Given the description of an element on the screen output the (x, y) to click on. 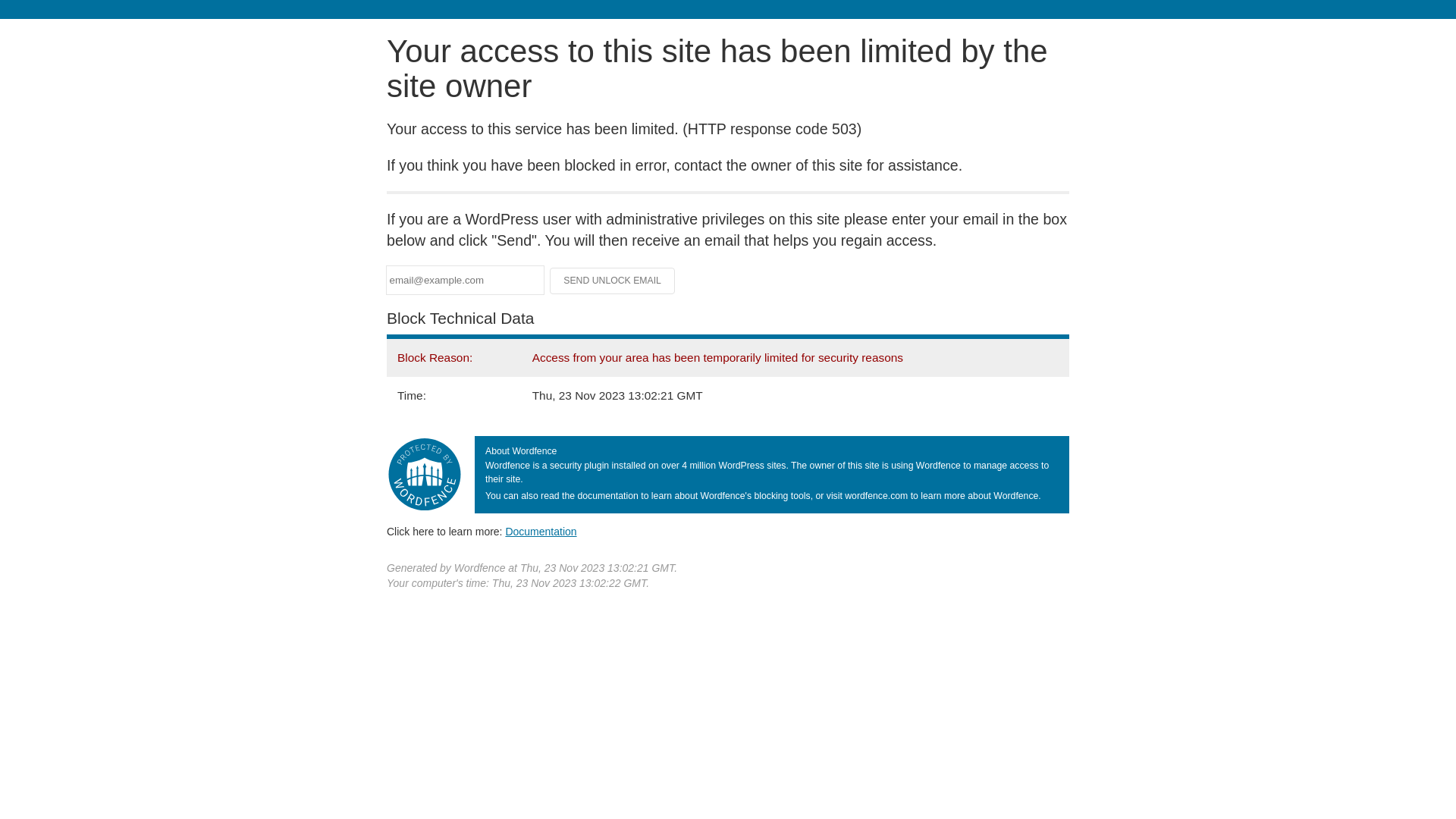
Documentation
(opens in new tab) Element type: text (540, 531)
Send Unlock Email Element type: text (612, 280)
